Given the description of an element on the screen output the (x, y) to click on. 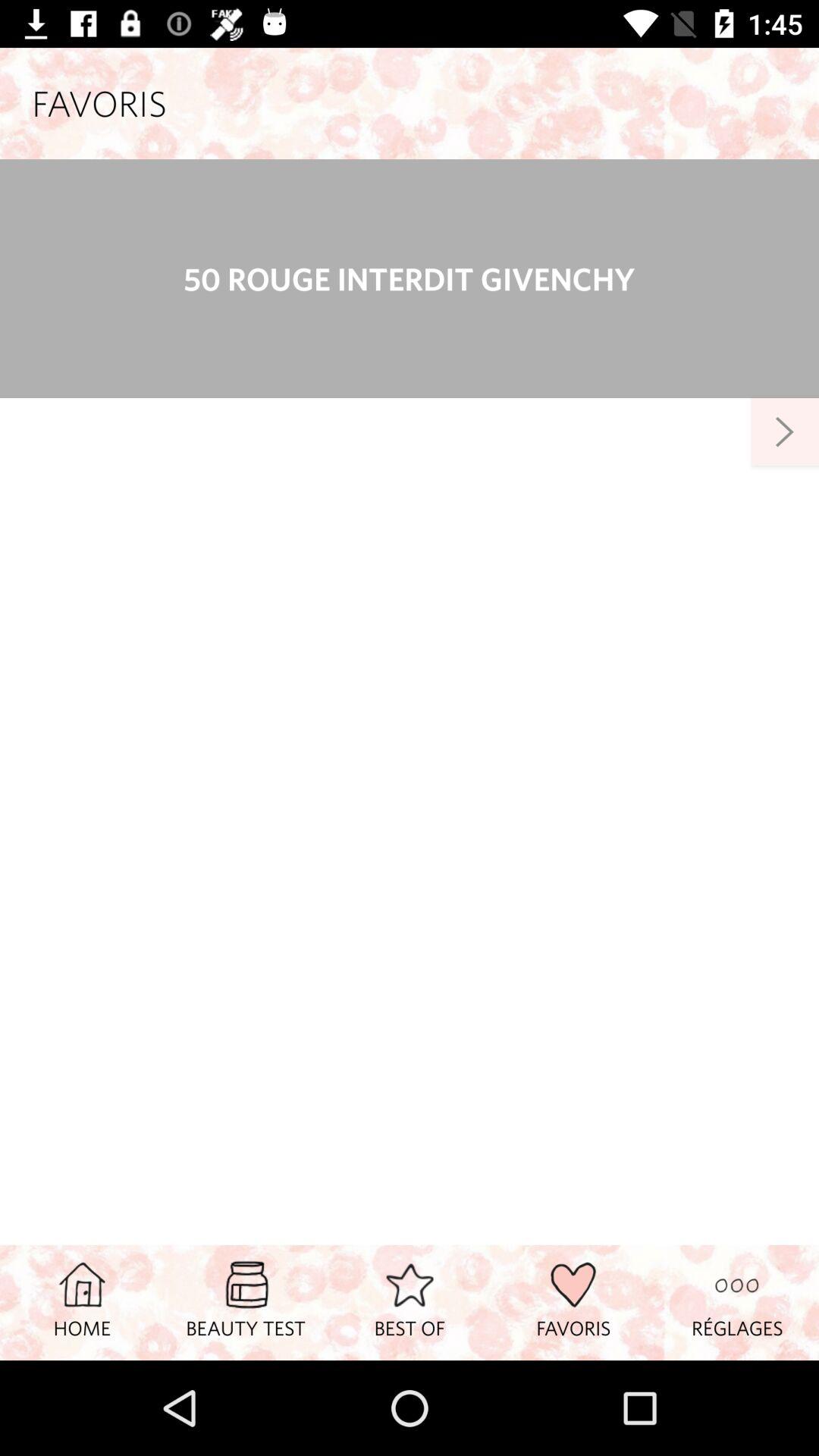
scroll until the beauty test item (245, 1302)
